Given the description of an element on the screen output the (x, y) to click on. 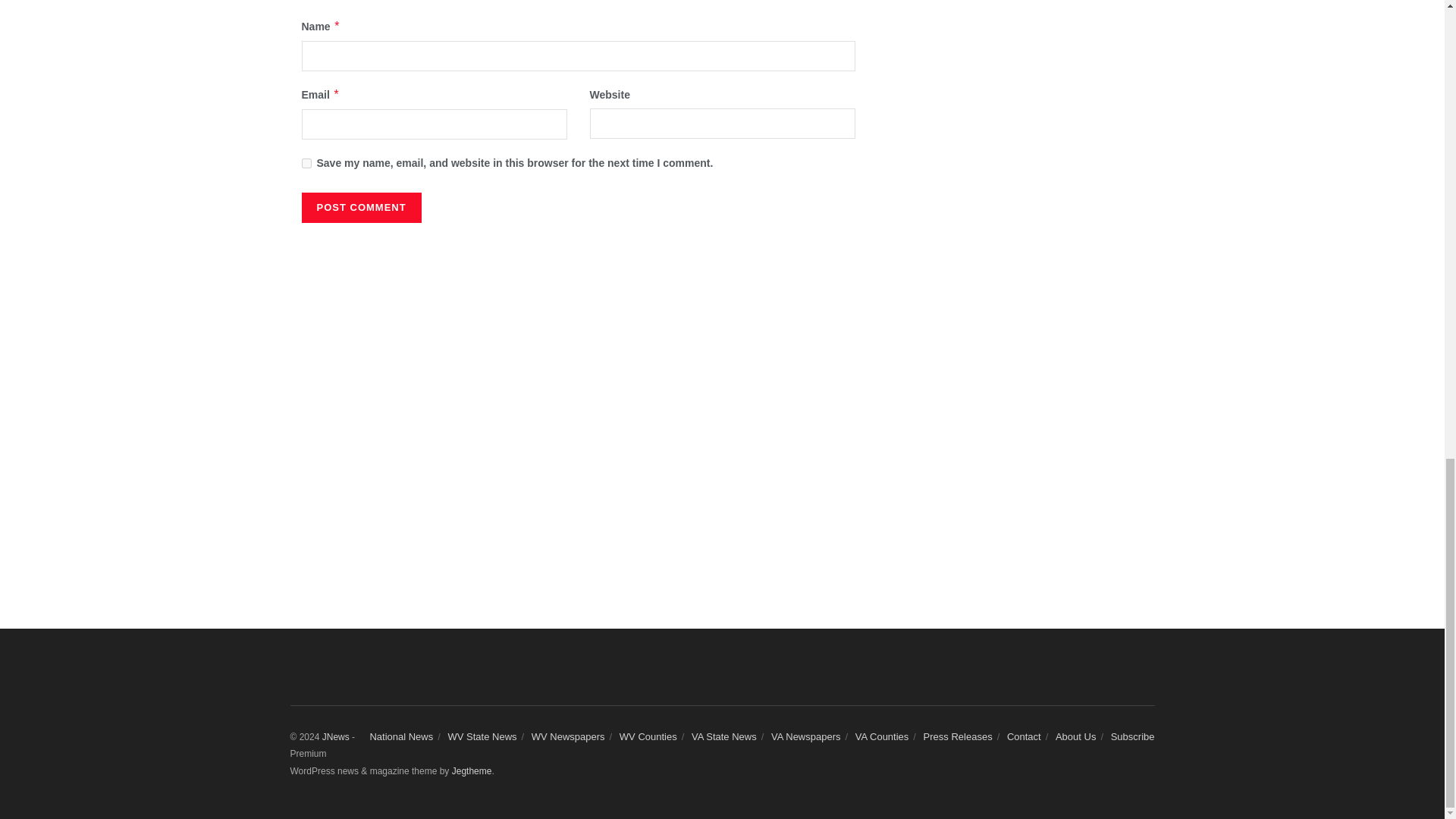
Jegtheme (471, 770)
Post Comment (361, 207)
yes (306, 163)
